Given the description of an element on the screen output the (x, y) to click on. 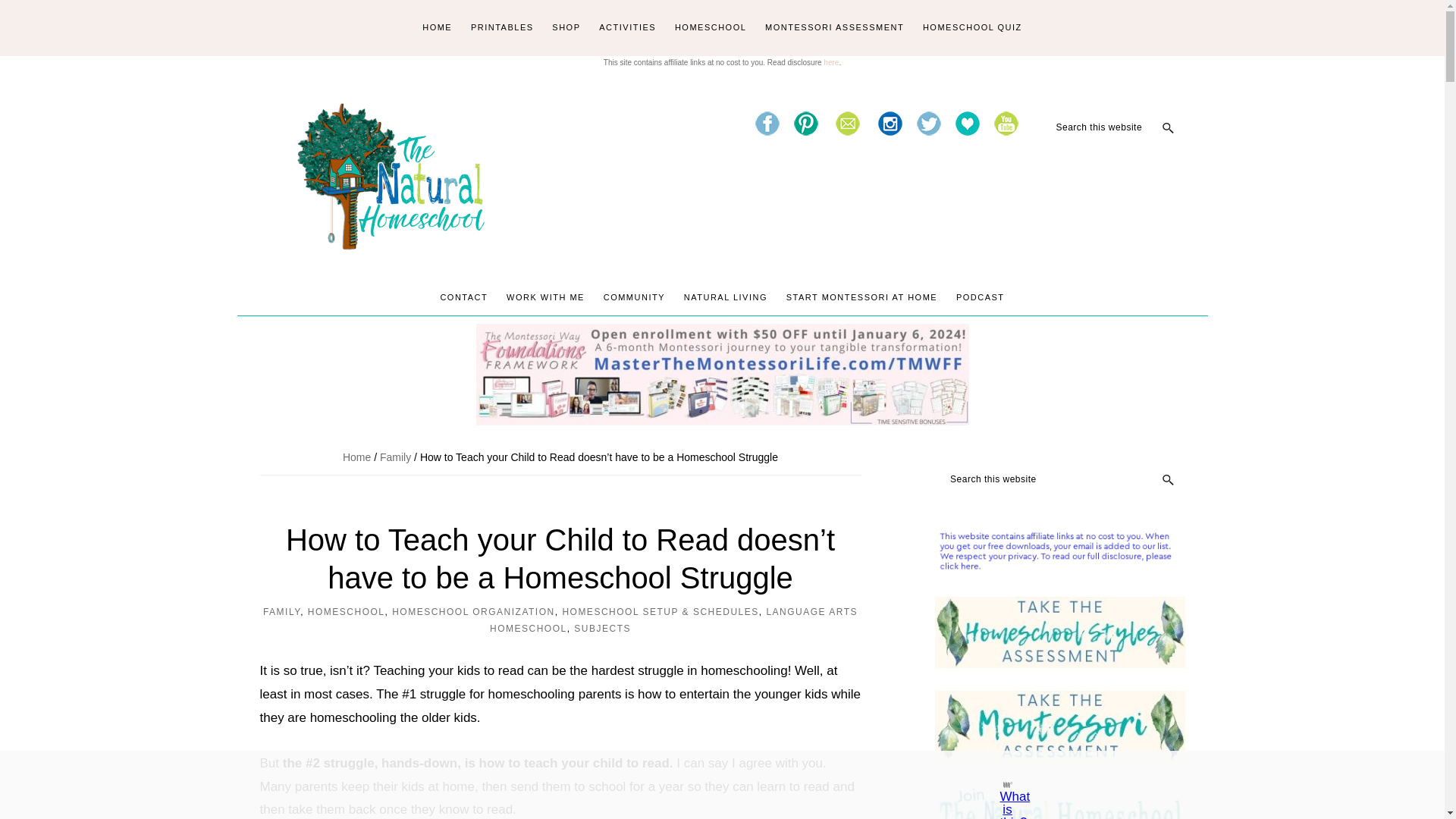
PRINTABLES (502, 27)
3rd party ad content (708, 785)
HOME (437, 27)
